Given the description of an element on the screen output the (x, y) to click on. 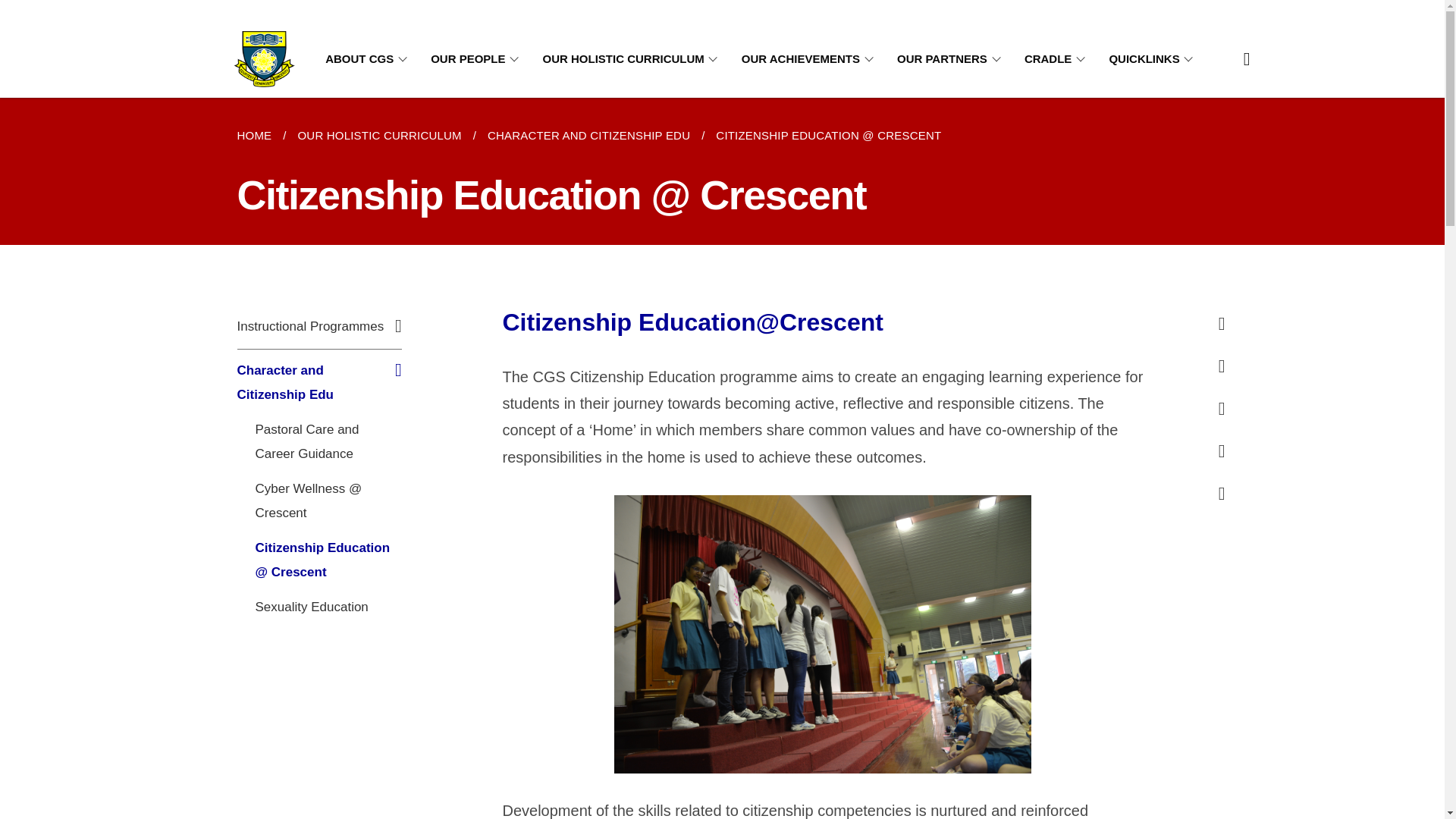
ABOUT CGS (368, 59)
OUR ACHIEVEMENTS (810, 59)
OUR PARTNERS (951, 59)
QUICKLINKS (1153, 59)
OUR PEOPLE (477, 59)
OUR HOLISTIC CURRICULUM (633, 59)
